Given the description of an element on the screen output the (x, y) to click on. 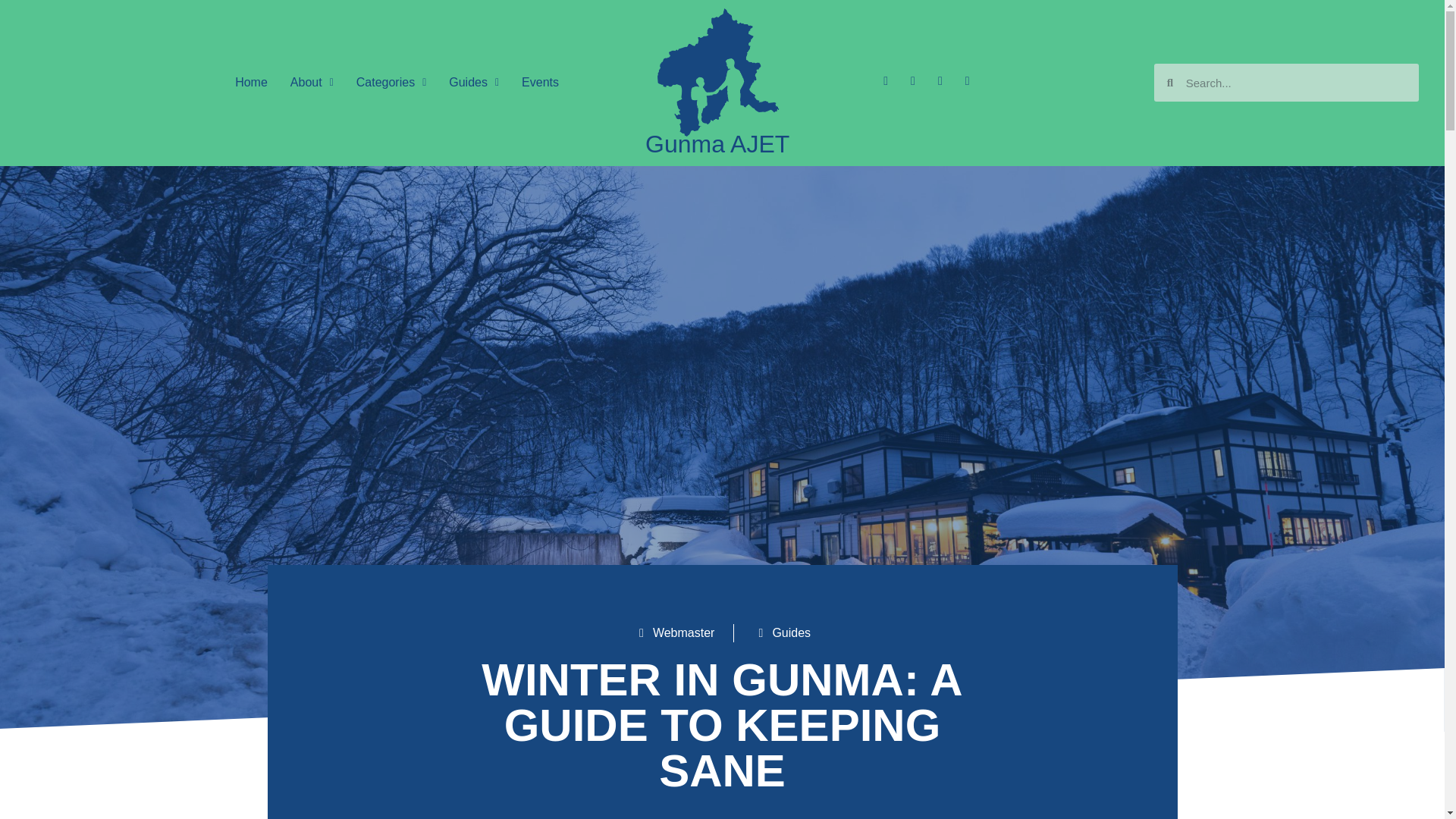
Home (251, 82)
Gunma AJET (716, 143)
Guides (790, 632)
About (312, 82)
Categories (391, 82)
Webmaster (673, 633)
Guides (474, 82)
Events (540, 82)
